Given the description of an element on the screen output the (x, y) to click on. 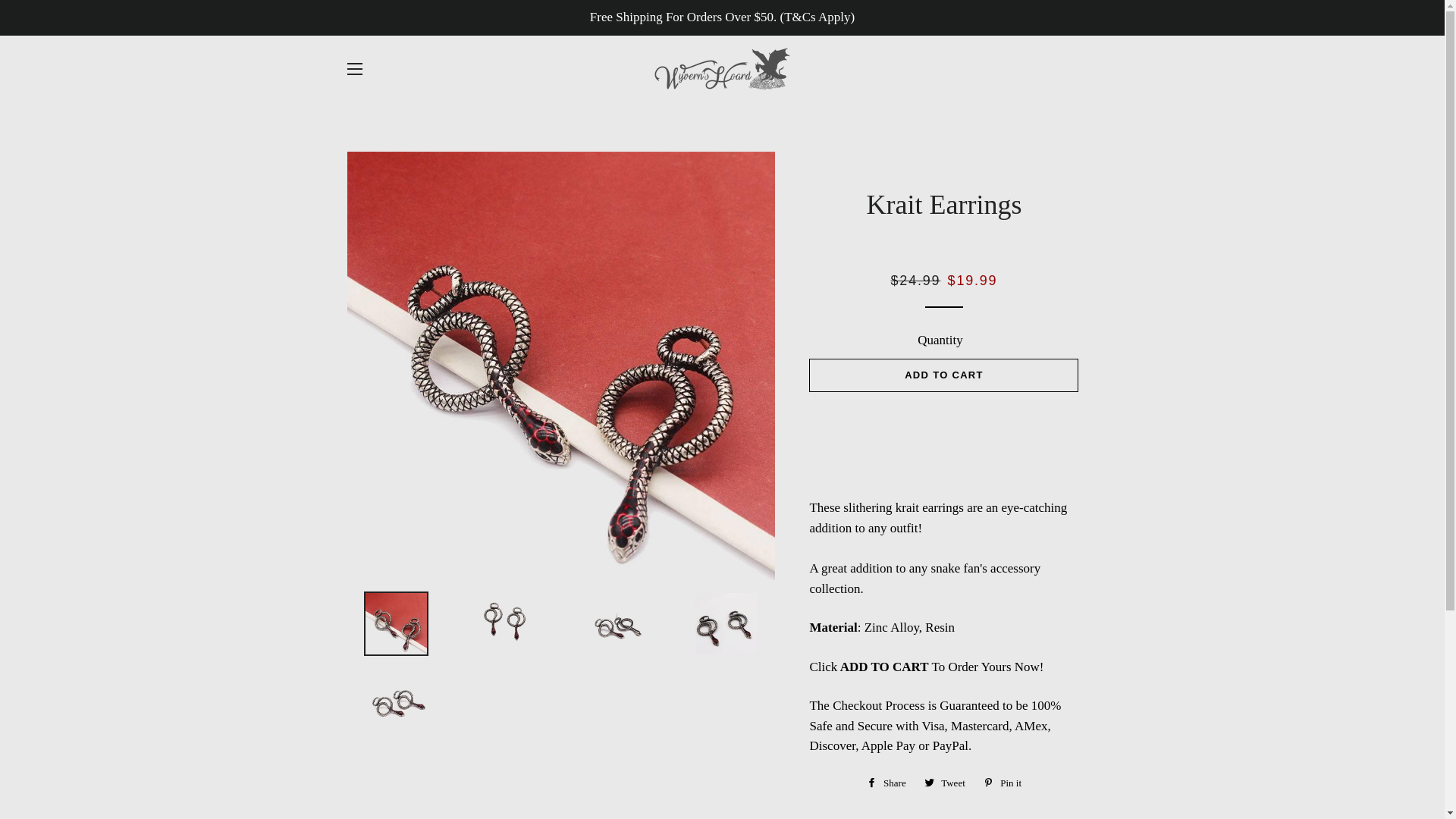
Pin on Pinterest (1002, 783)
Tweet on Twitter (944, 783)
Share on Facebook (886, 783)
